Given the description of an element on the screen output the (x, y) to click on. 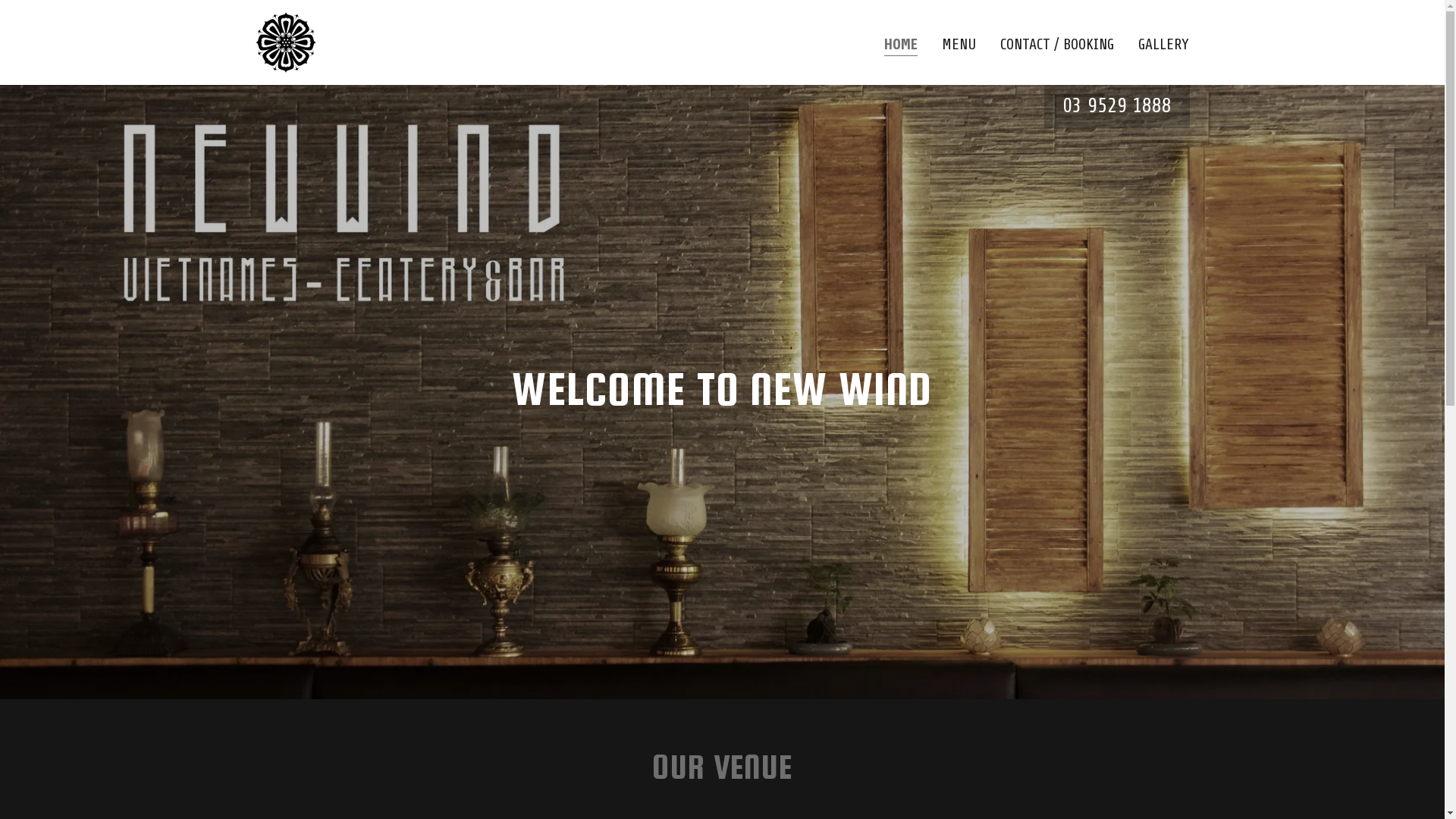
03 9529 1888 Element type: text (1115, 105)
MENU Element type: text (958, 43)
GALLERY Element type: text (1163, 43)
New Wind Vietnamese Eatery & Bar  Element type: hover (284, 41)
CONTACT / BOOKING Element type: text (1056, 43)
HOME Element type: text (900, 44)
